Given the description of an element on the screen output the (x, y) to click on. 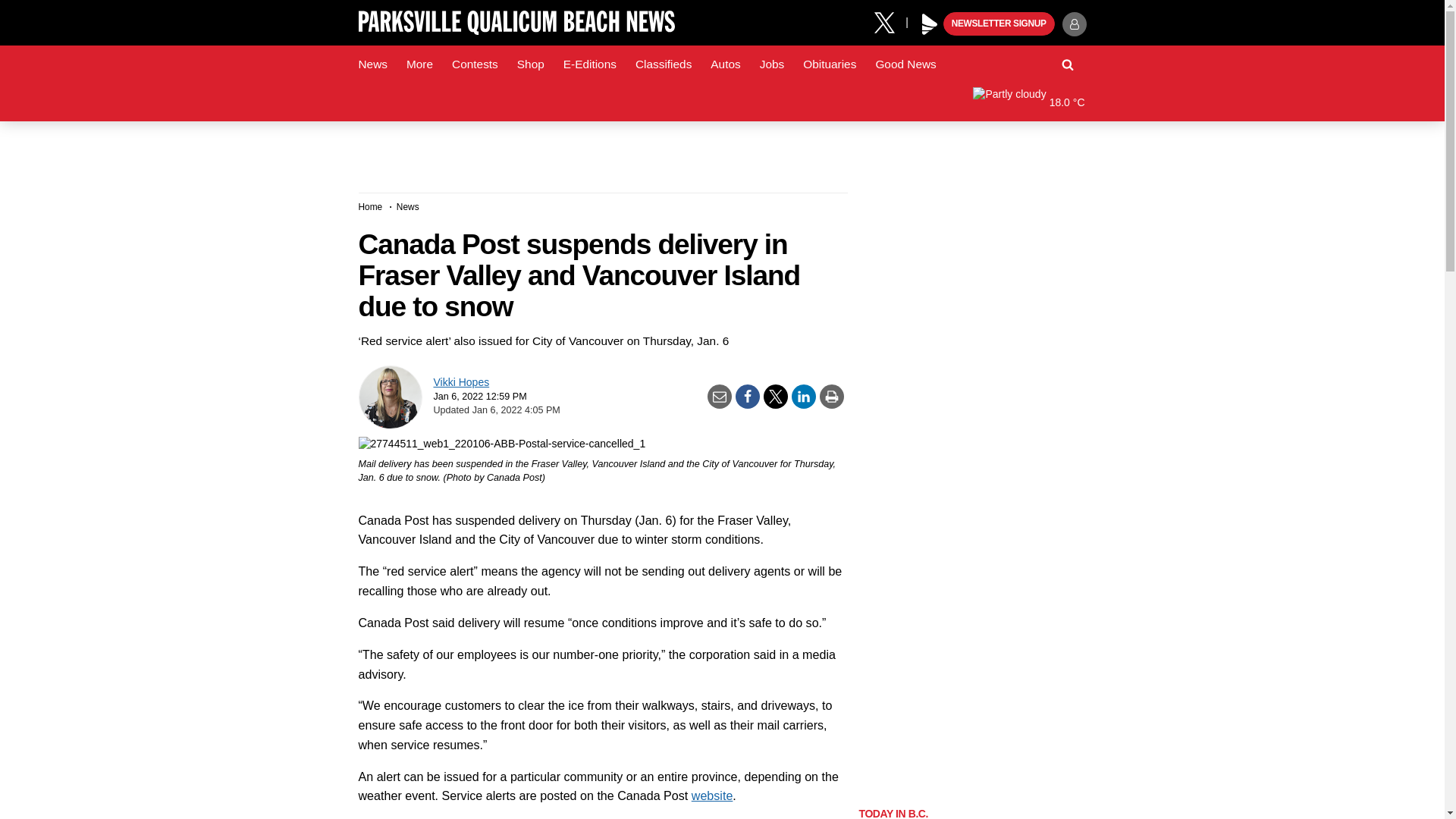
Play (929, 24)
NEWSLETTER SIGNUP (998, 24)
Black Press Media (929, 24)
X (889, 21)
News (372, 64)
